Given the description of an element on the screen output the (x, y) to click on. 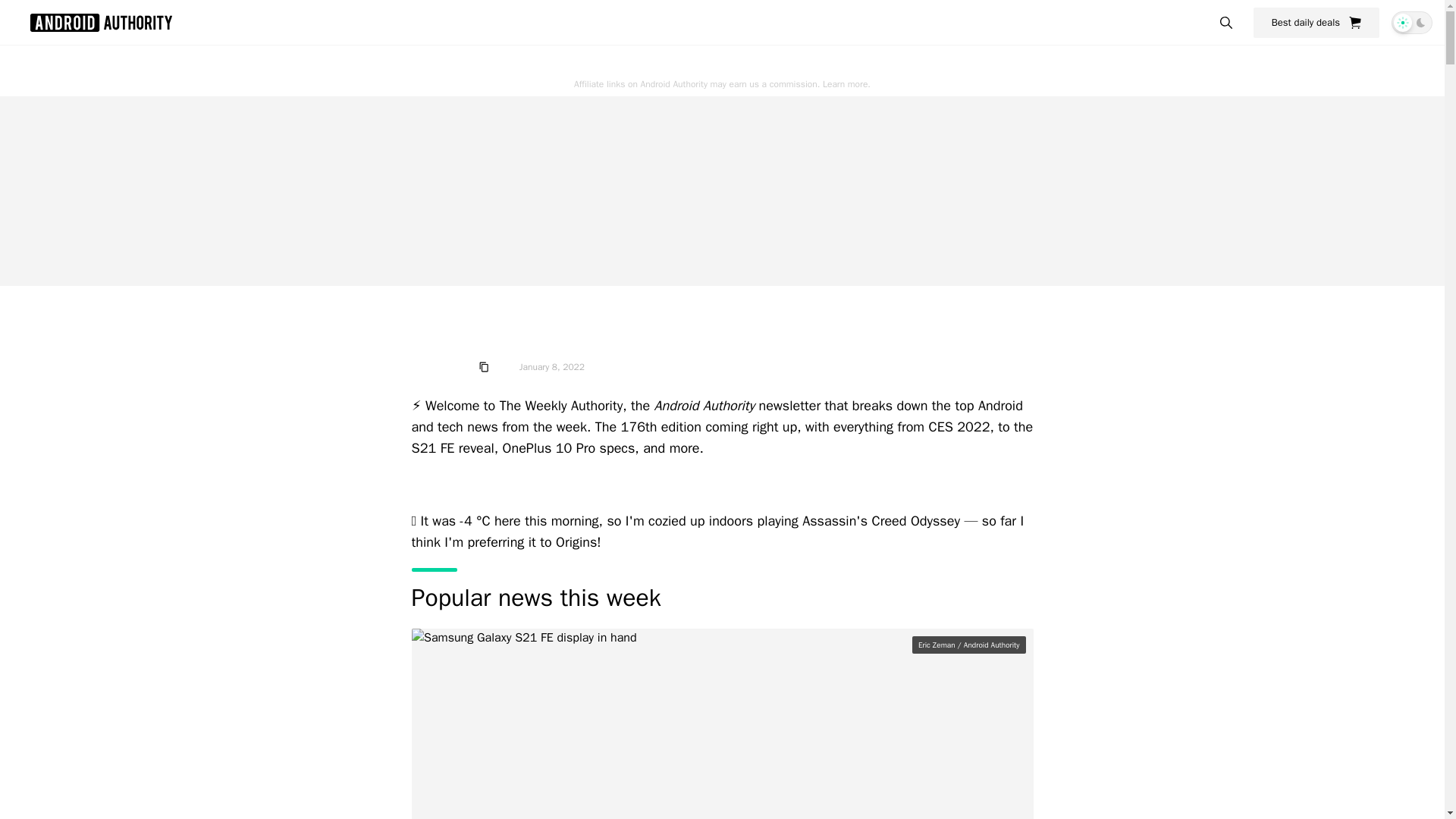
Samsung Galaxy S21 FE display in hand (721, 723)
Learn more. (846, 83)
Best daily deals (1315, 22)
